Given the description of an element on the screen output the (x, y) to click on. 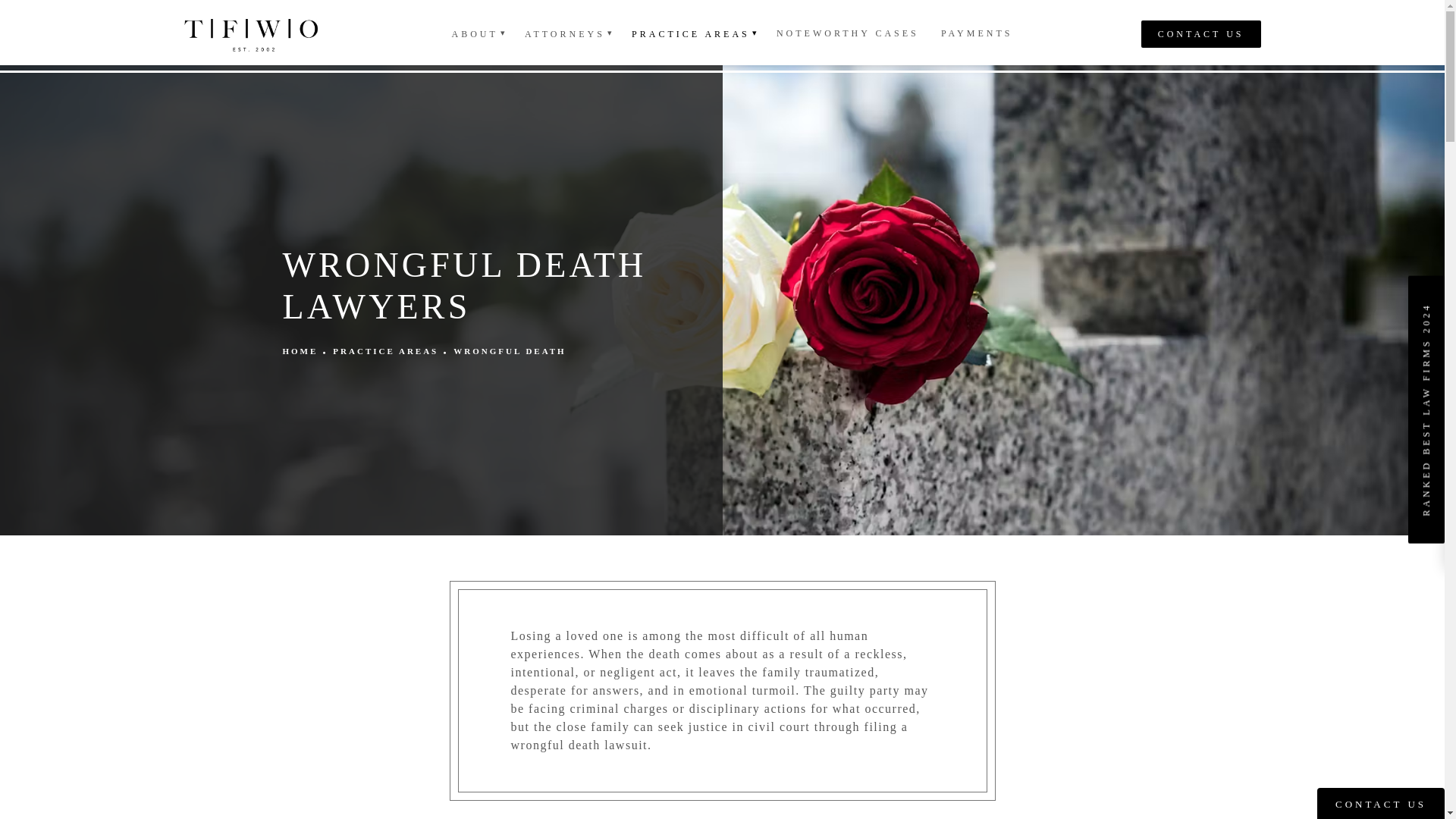
ABOUT (477, 33)
ATTORNEYS (566, 33)
PRACTICE AREAS (692, 33)
